Given the description of an element on the screen output the (x, y) to click on. 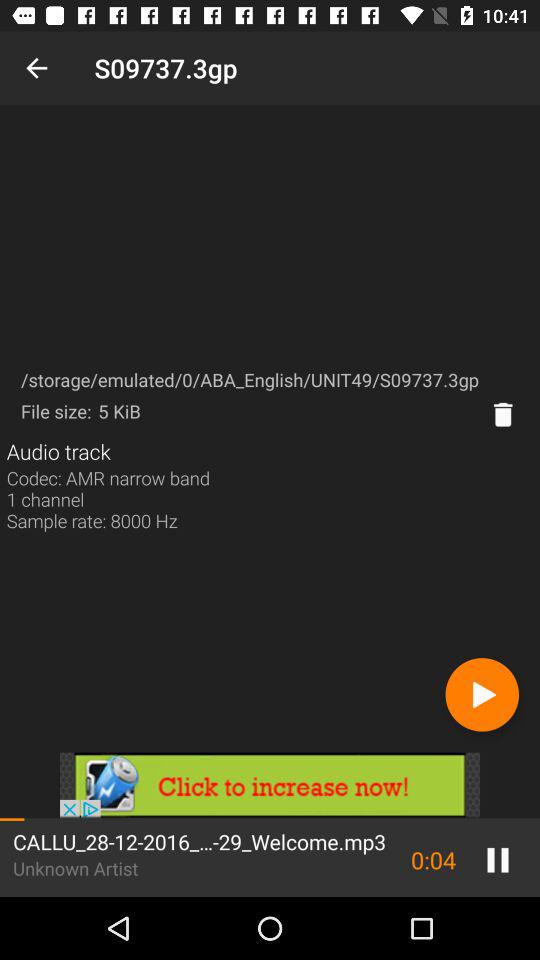
delete the option (503, 414)
